Given the description of an element on the screen output the (x, y) to click on. 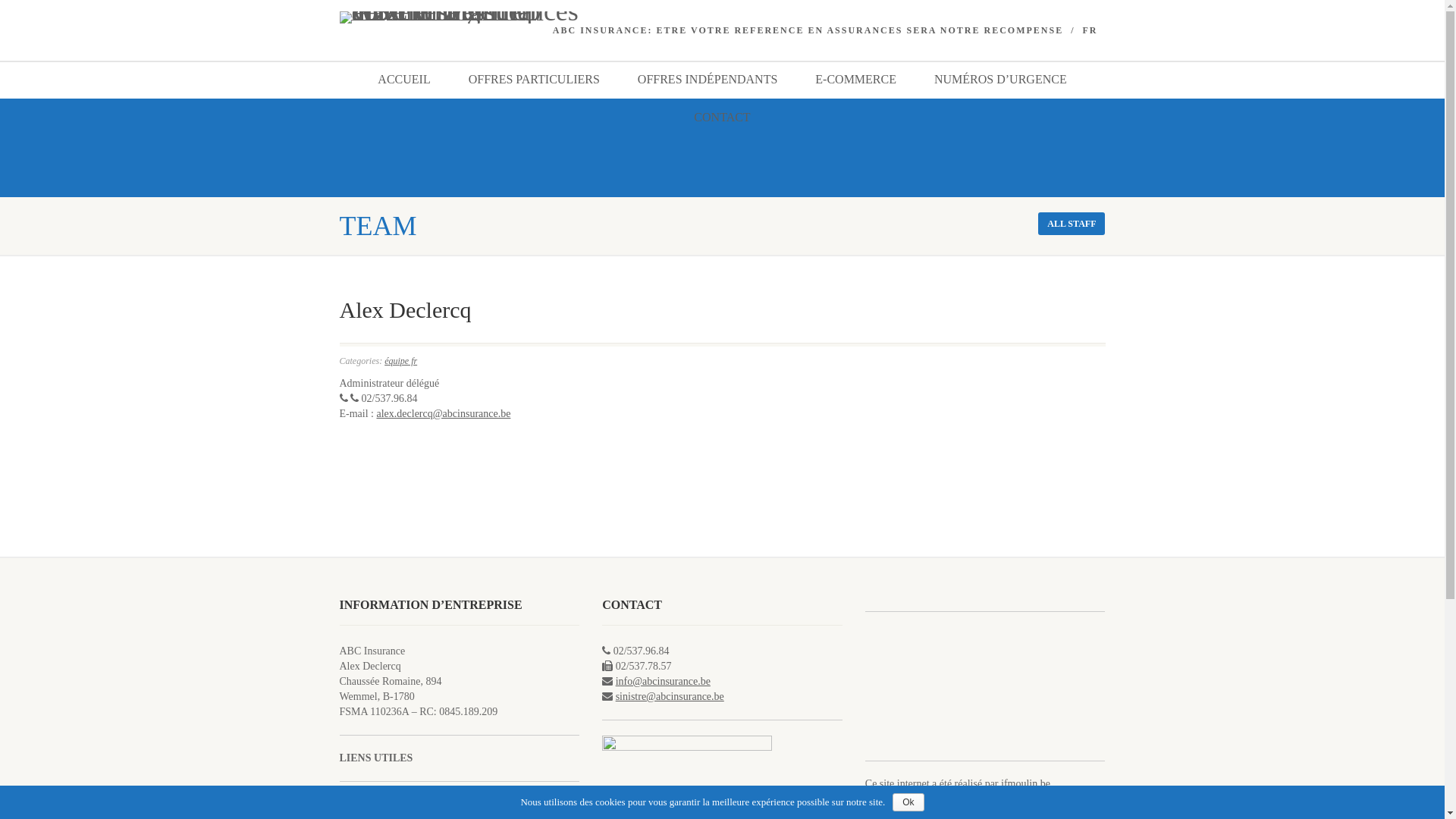
alex.declercq@abcinsurance.be Element type: text (443, 413)
jfmoulin.be Element type: text (1025, 783)
ALL STAFF Element type: text (1071, 223)
info@abcinsurance.be Element type: text (662, 681)
Ombusman des assurances Element type: text (396, 803)
OFFRES PARTICULIERS Element type: text (533, 79)
CONTACT Element type: text (721, 117)
sinistre@abcinsurance.be Element type: text (669, 696)
Ok Element type: text (907, 802)
ACCUEIL Element type: text (403, 79)
FR Element type: text (1090, 29)
E-COMMERCE Element type: text (855, 79)
